Given the description of an element on the screen output the (x, y) to click on. 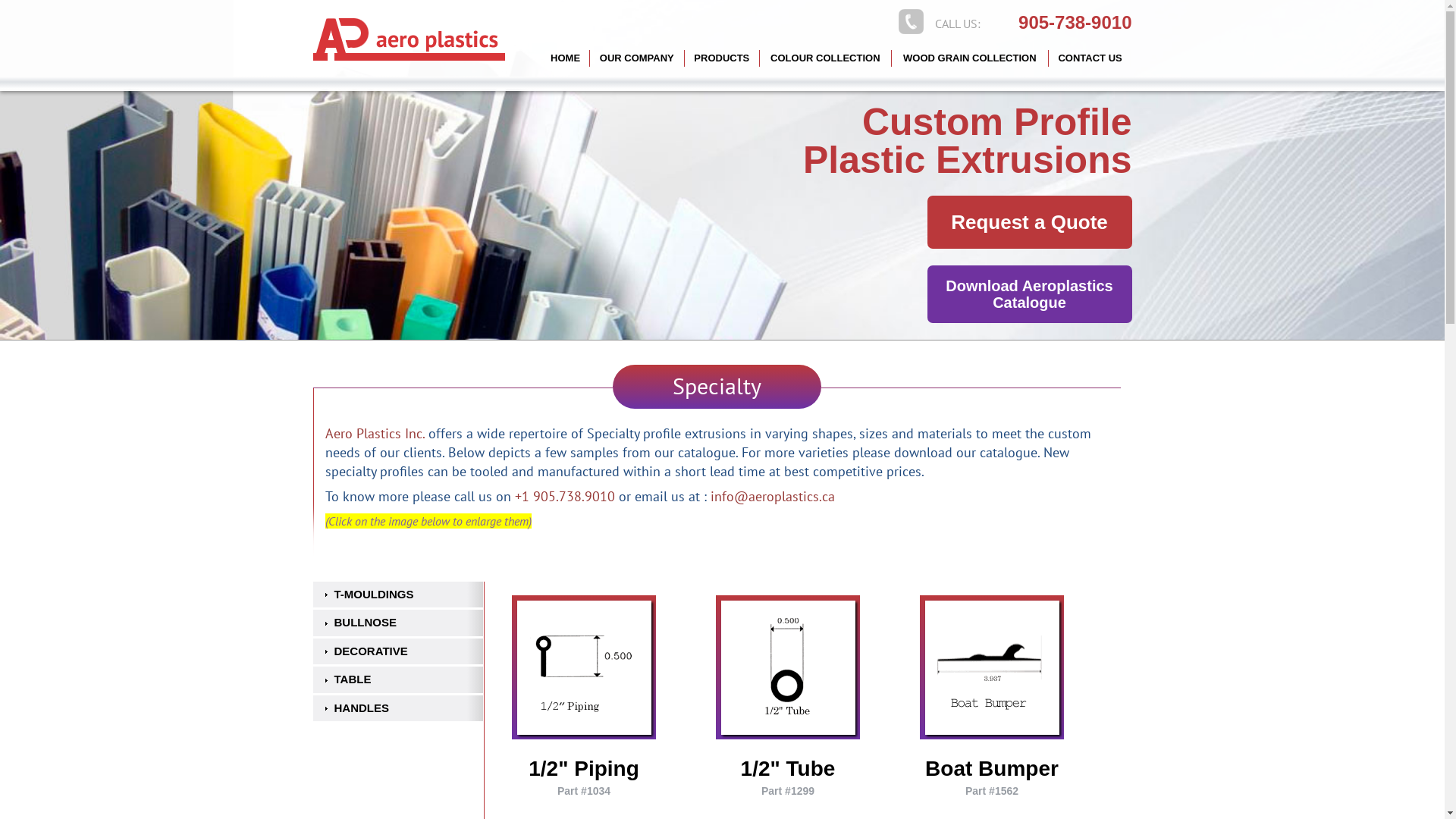
DECORATIVE Element type: text (397, 651)
1/2" Piping
Part #1034 Element type: text (583, 776)
COLOUR COLLECTION Element type: text (825, 58)
TABLE Element type: text (397, 679)
905-738-9010 Element type: text (1074, 22)
1/2" Tube
Part #1299 Element type: text (787, 776)
OUR COMPANY Element type: text (636, 58)
T-MOULDINGS Element type: text (397, 594)
Boat Bumper
Part #1562 Element type: text (991, 776)
info@aeroplastics.ca Element type: text (771, 496)
BULLNOSE Element type: text (397, 622)
Download Aeroplastics Catalogue Element type: text (1028, 294)
HANDLES Element type: text (397, 708)
Request a Quote Element type: text (1028, 221)
CONTACT US Element type: text (1090, 58)
HOME Element type: text (565, 58)
WOOD GRAIN COLLECTION Element type: text (969, 58)
PRODUCTS Element type: text (721, 58)
